Given the description of an element on the screen output the (x, y) to click on. 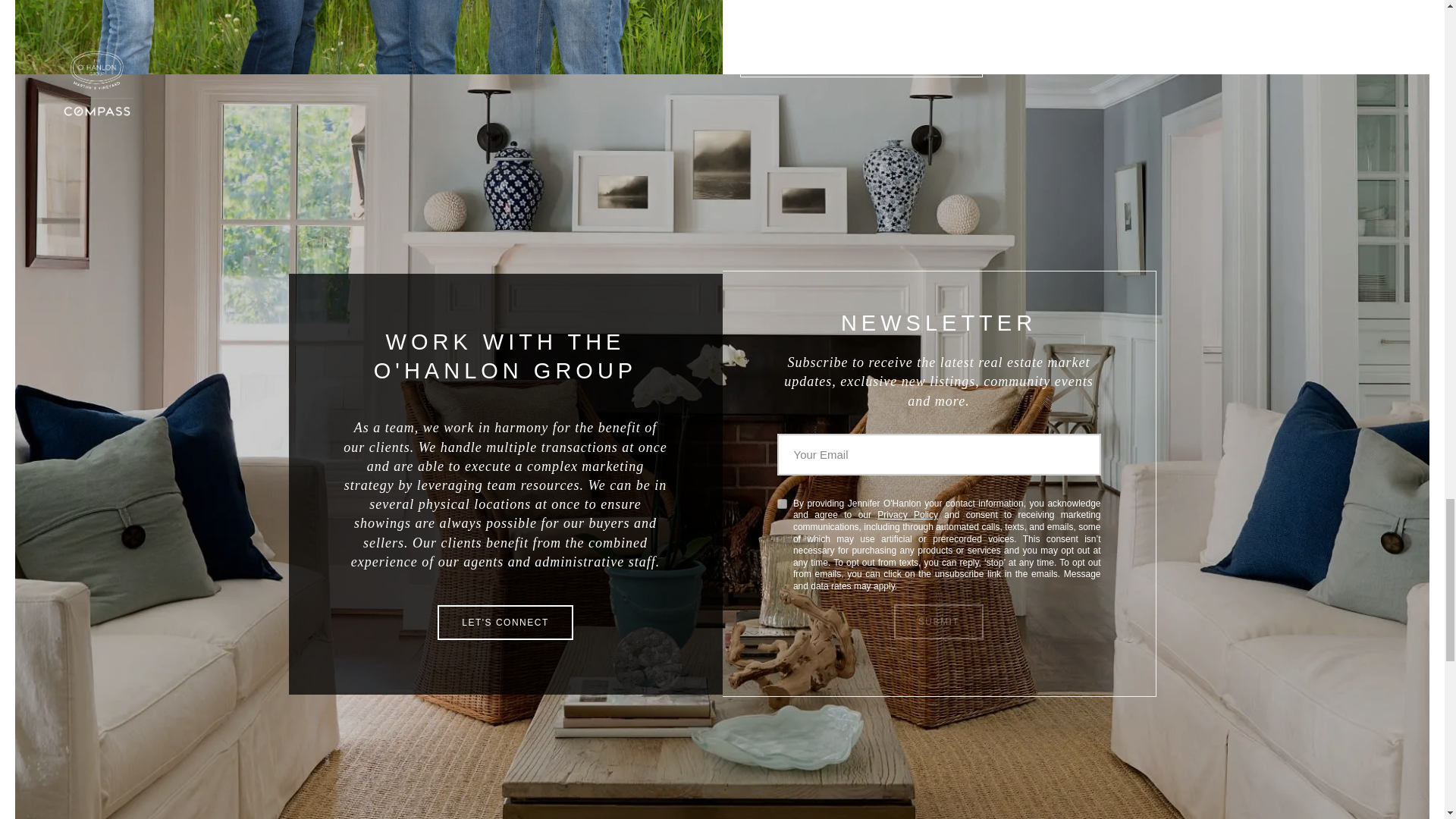
on (781, 503)
